Given the description of an element on the screen output the (x, y) to click on. 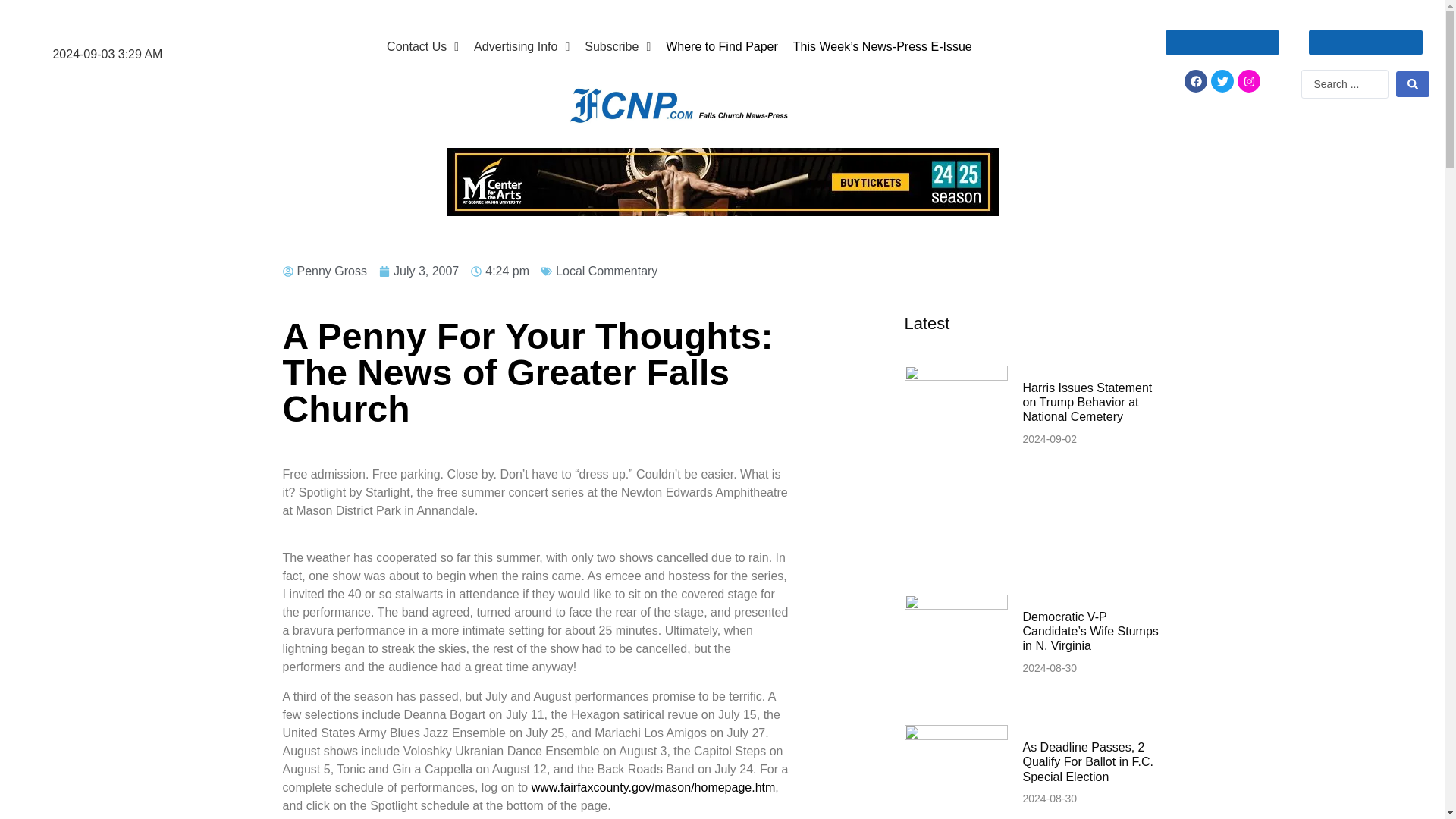
Contact Us (421, 46)
Penny Gross (324, 271)
Subscribe (617, 46)
Where to Find Paper (722, 46)
Advertising Info (520, 46)
Local Commentary (607, 270)
July 3, 2007 (418, 271)
